Given the description of an element on the screen output the (x, y) to click on. 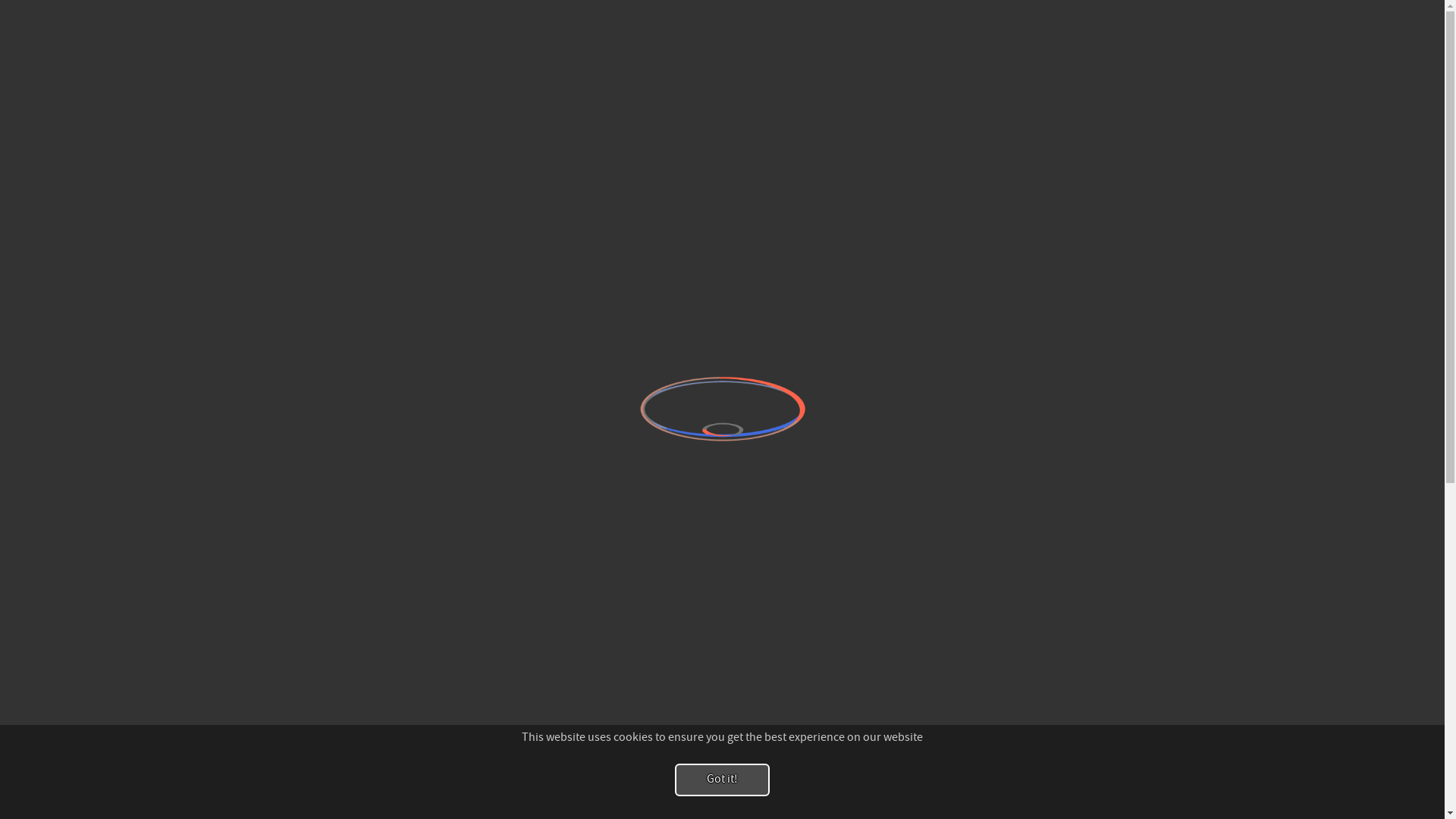
fr Element type: text (431, 88)
en Element type: text (433, 71)
Got it! Element type: text (721, 779)
Merger with the CERN & Society Foundation Element type: text (1094, 245)
Directory Element type: text (1351, 14)
CERN Accelerating science Element type: text (142, 14)
Skip to main content Element type: text (0, 0)
Sign in Element type: text (1301, 14)
Foundation for the Globe of Science and Innovation Element type: text (200, 39)
Your event in the Globe Element type: text (268, 701)
